Given the description of an element on the screen output the (x, y) to click on. 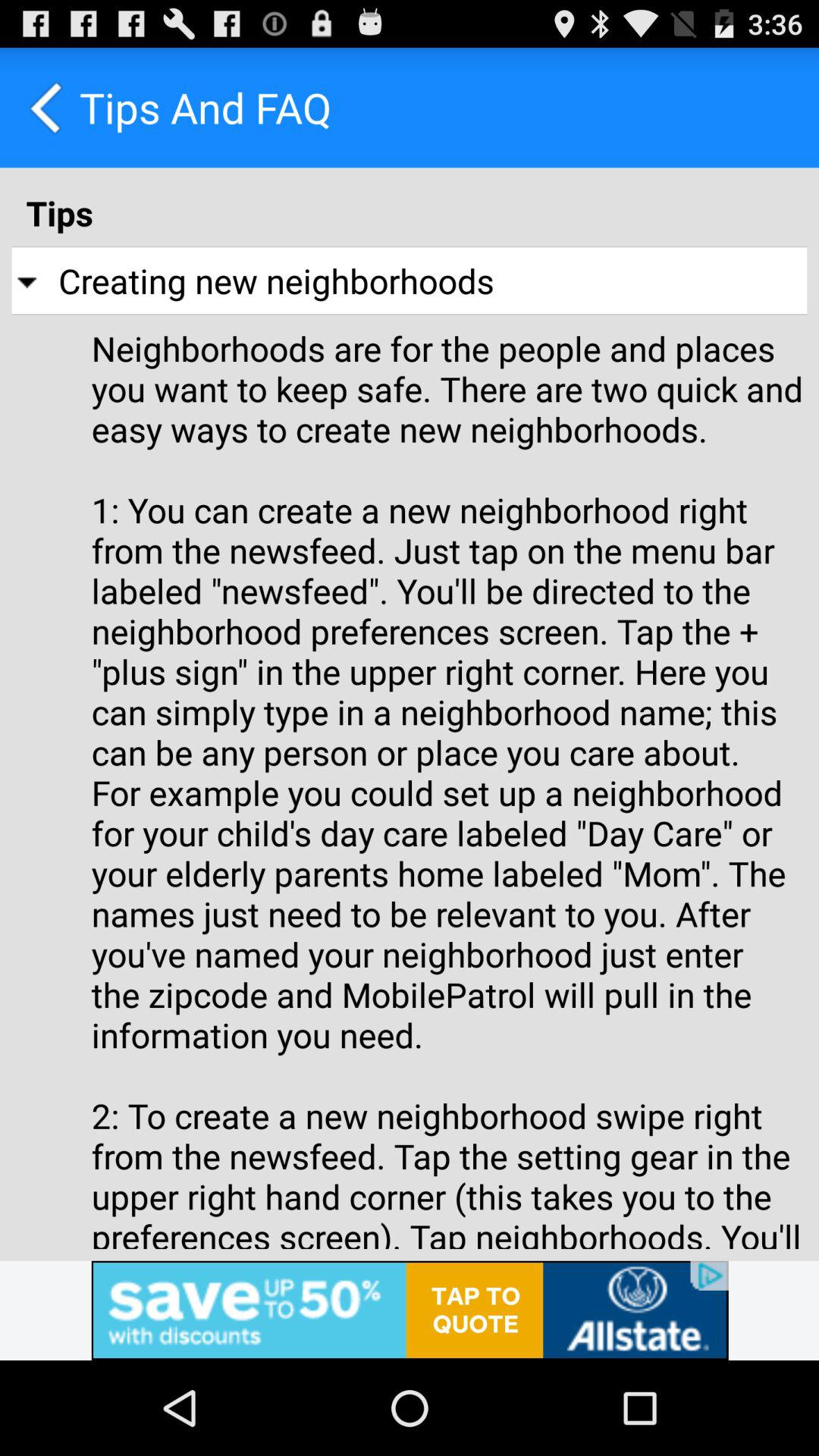
advertisement (409, 1310)
